Given the description of an element on the screen output the (x, y) to click on. 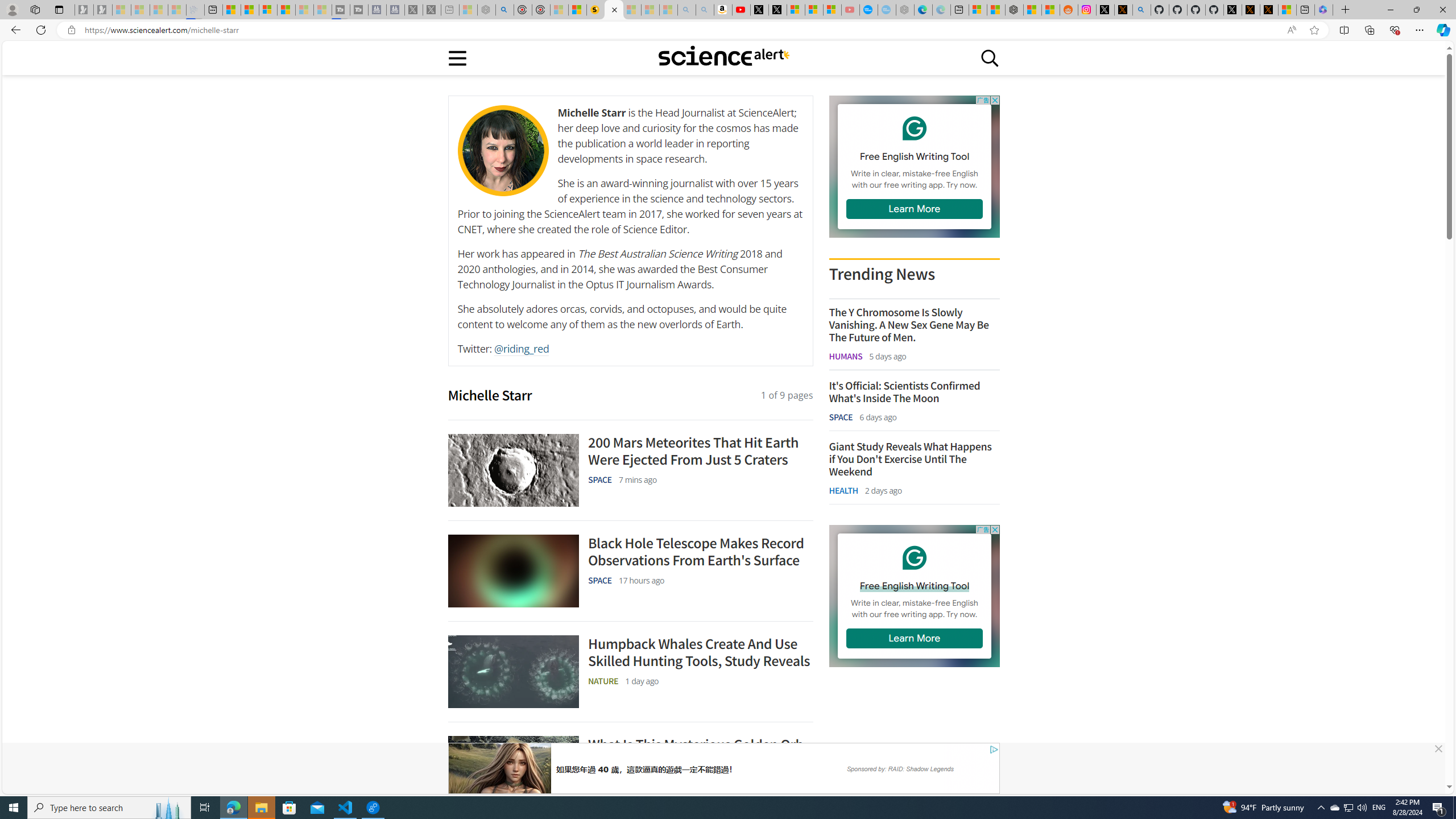
Overview (268, 9)
Class: sciencealert-search-desktop-svg  (989, 57)
